Given the description of an element on the screen output the (x, y) to click on. 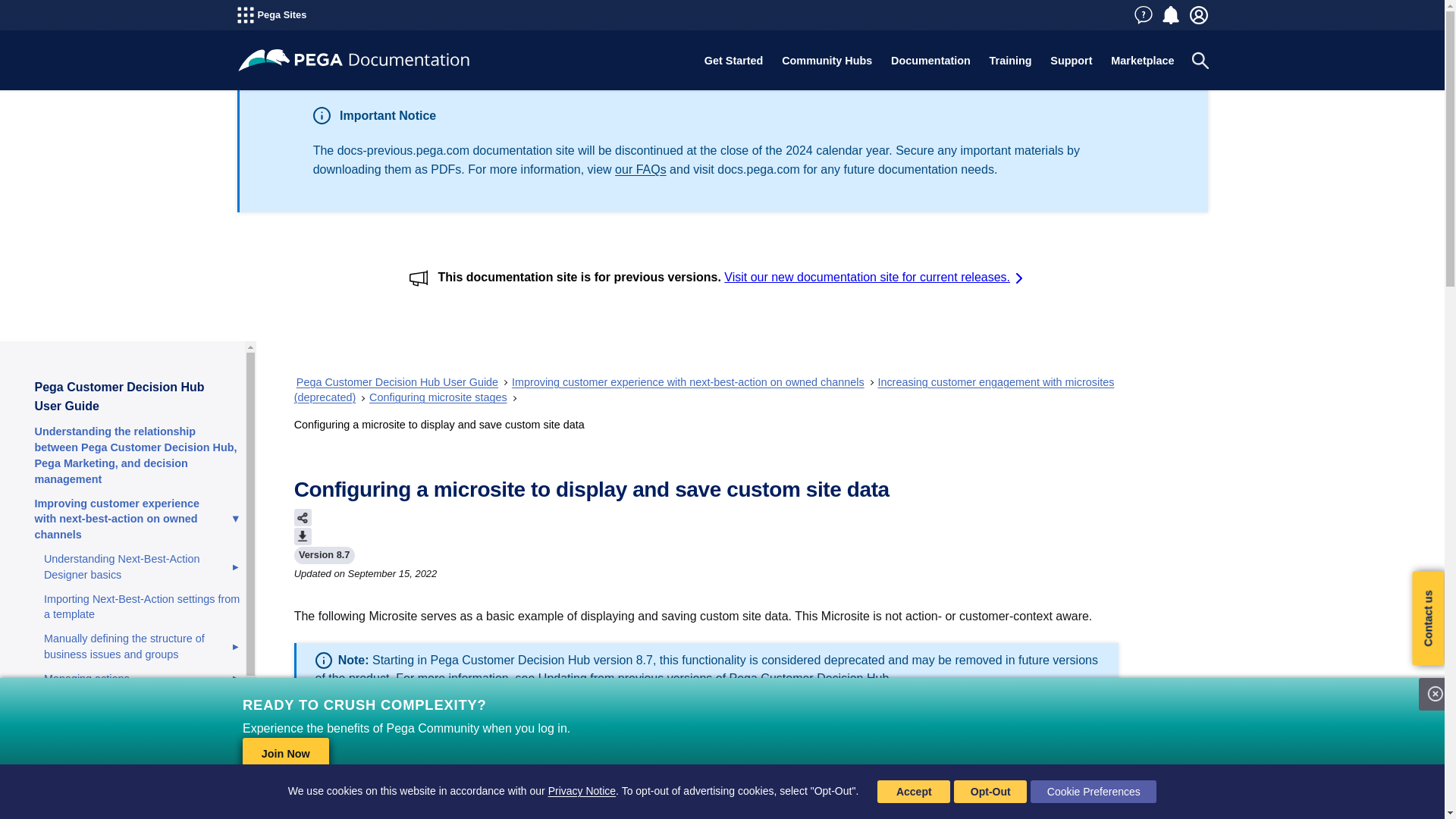
Toggle Search Panel (1200, 60)
Community Hubs (827, 60)
Get Started (732, 60)
